Given the description of an element on the screen output the (x, y) to click on. 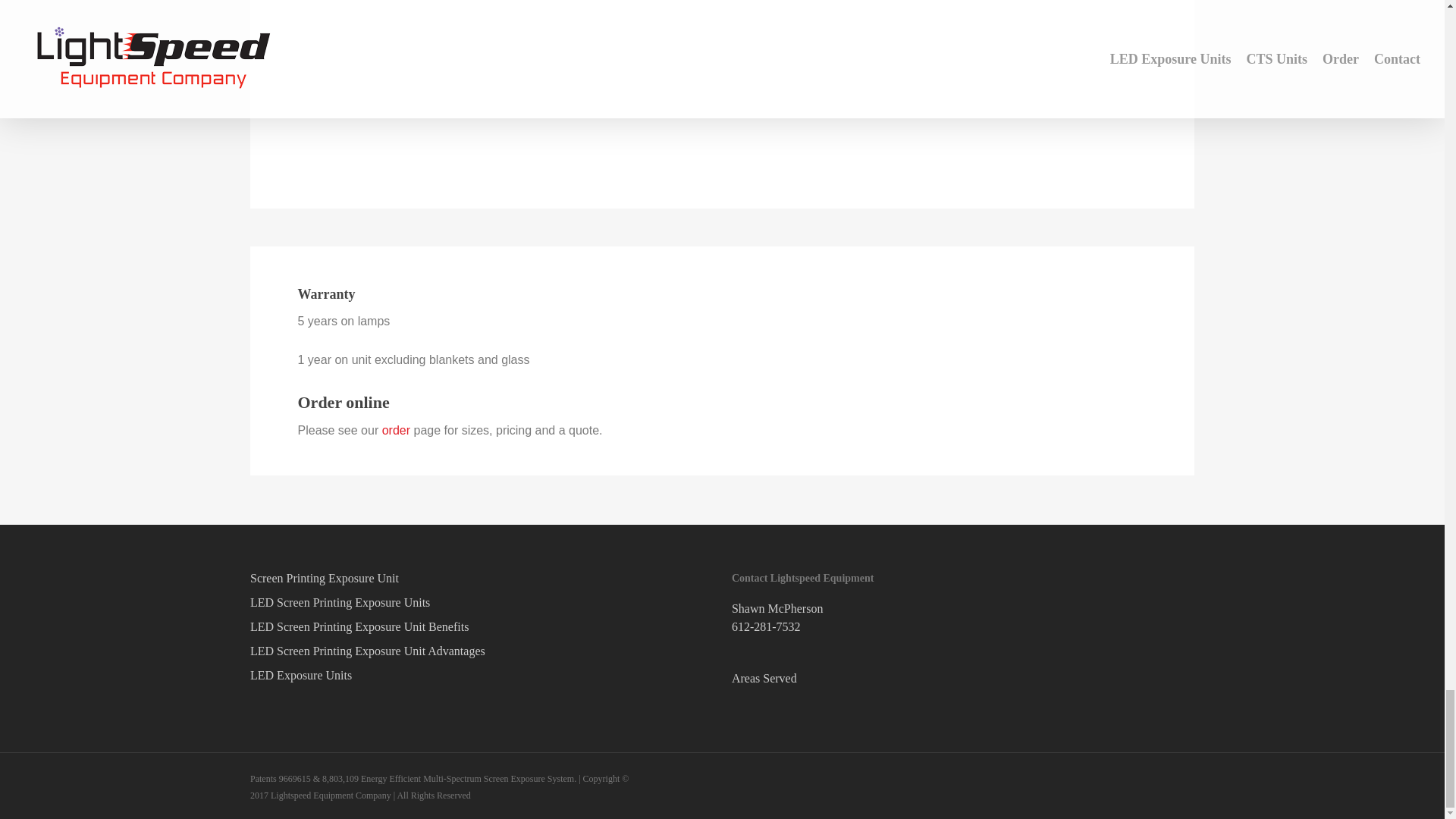
Screen Printing Exposure Unit (481, 578)
LED Screen Printing Exposure Units (481, 602)
LED Screen Printing Exposure Unit Advantages (481, 651)
LED Screen Printing Exposure Unit Benefits (481, 627)
order (395, 430)
